Given the description of an element on the screen output the (x, y) to click on. 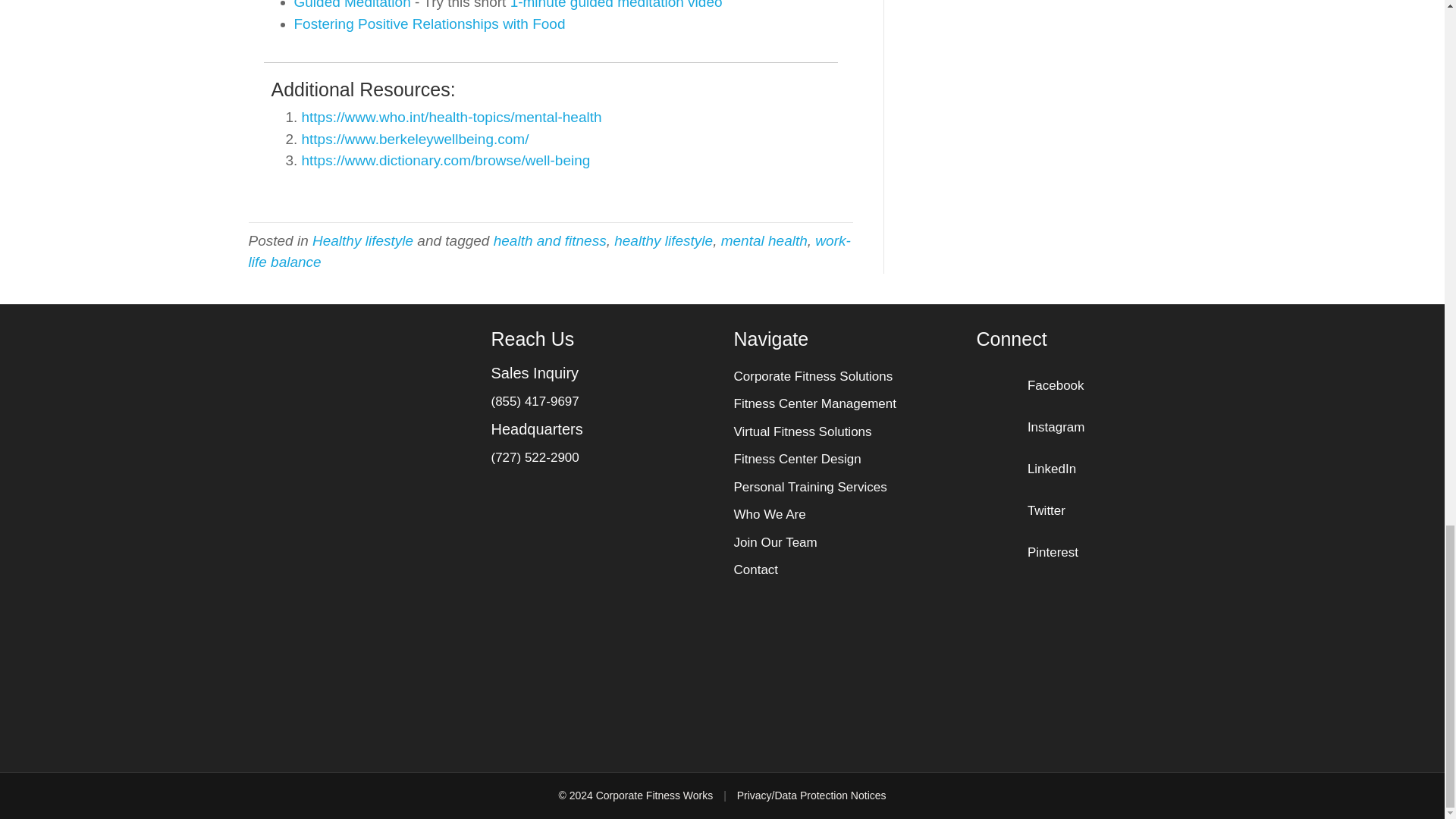
Fostering Positive Relationships with Food (430, 23)
healthy lifestyle (663, 240)
work-life balance (549, 251)
Guided Meditation (352, 4)
health and fitness (550, 240)
mental health (764, 240)
1-minute guided meditation video (616, 4)
Healthy lifestyle (363, 240)
